Given the description of an element on the screen output the (x, y) to click on. 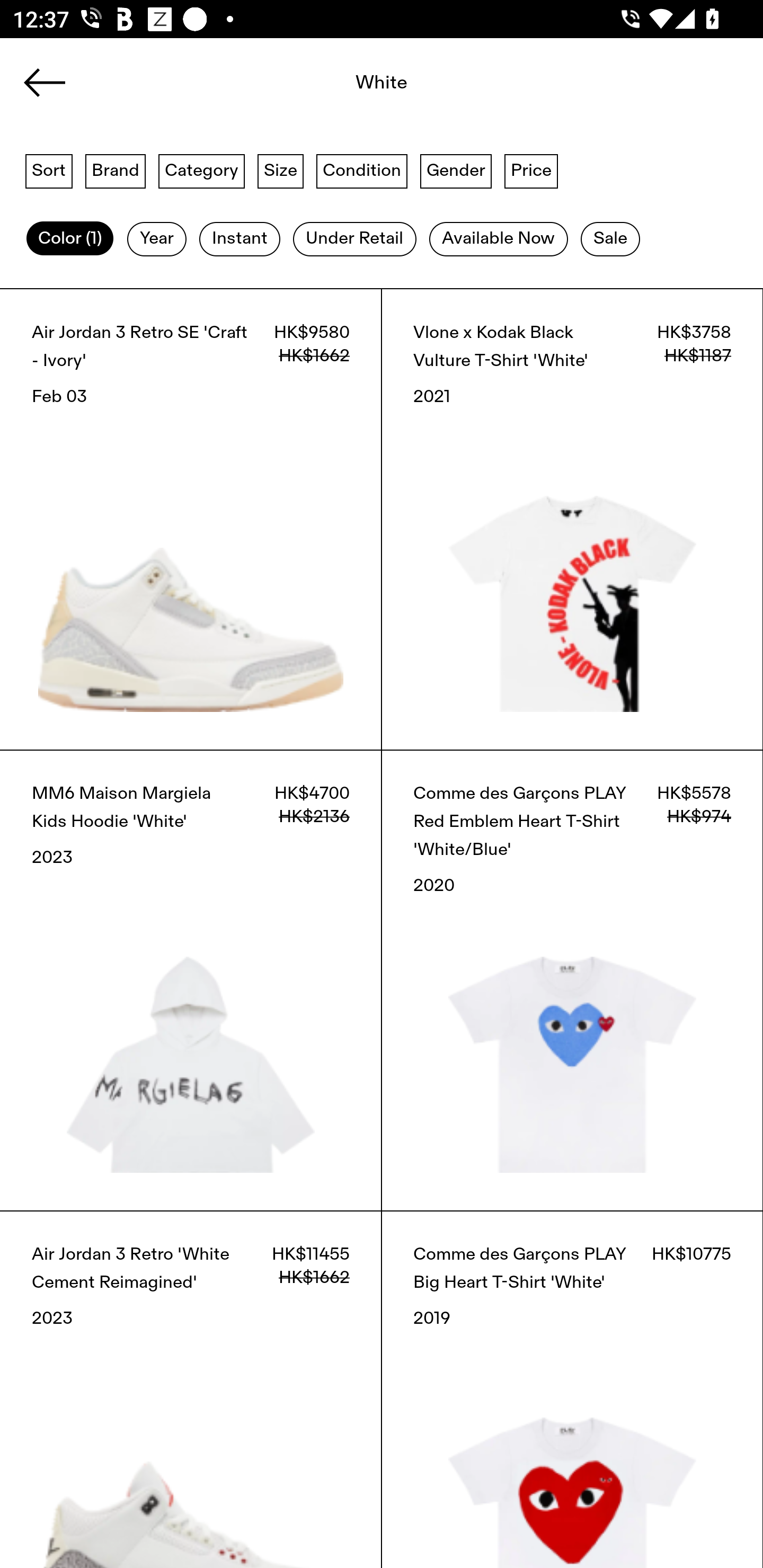
Sort (48, 170)
Brand (115, 170)
Category (201, 170)
Size (280, 170)
Condition (361, 170)
Gender (455, 170)
Price (530, 170)
Color (1) (69, 239)
Year (156, 239)
Instant (239, 239)
Under Retail (354, 239)
Available Now (497, 239)
Sale (610, 239)
